Given the description of an element on the screen output the (x, y) to click on. 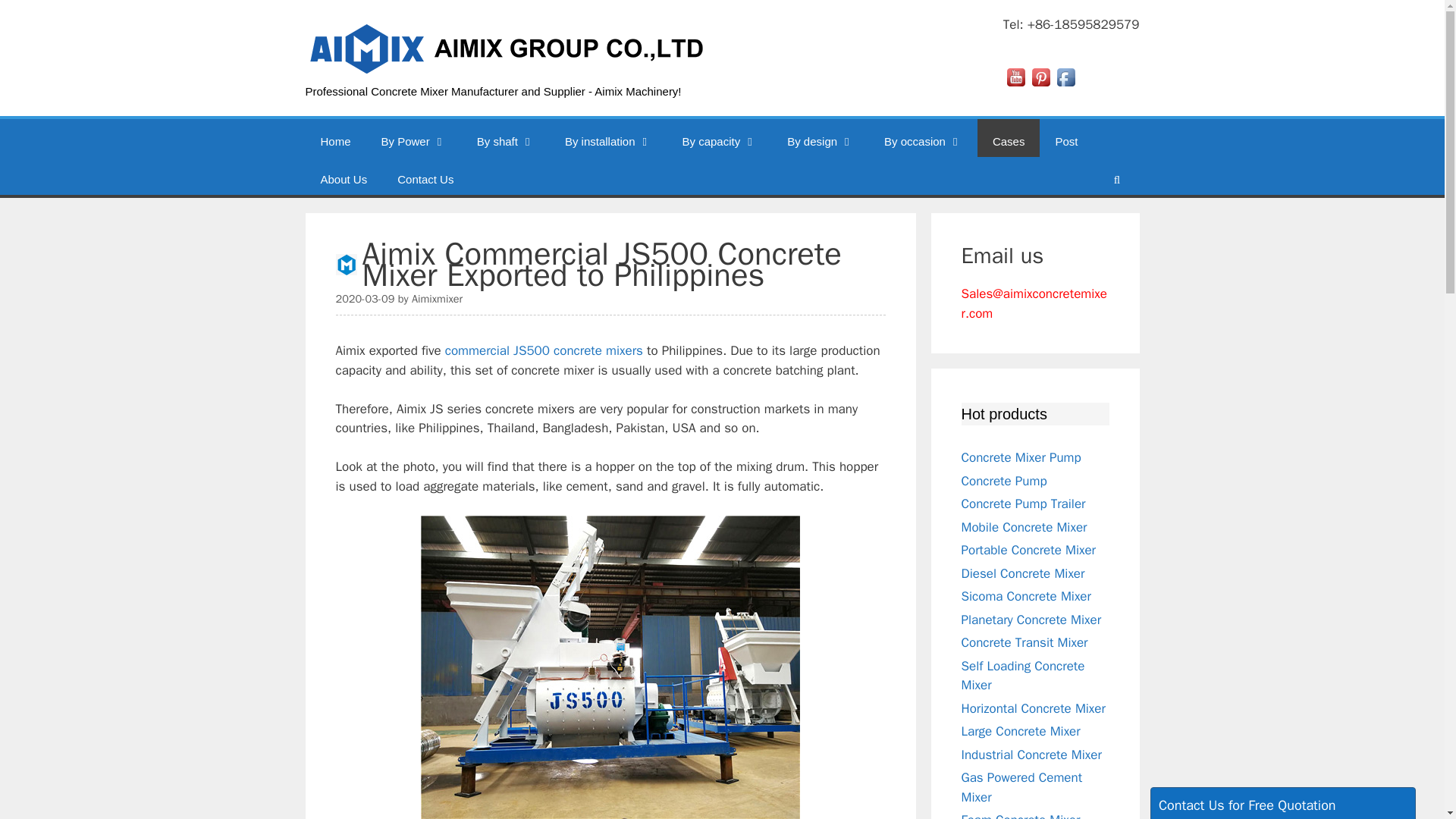
Visit Us On Youtube (1015, 84)
Visit Us On Facebook (1065, 84)
By design (820, 136)
By capacity (718, 136)
View all posts by Aimixmixer (437, 298)
By Power (413, 136)
By shaft (505, 136)
Home (334, 136)
Visit Us On Pinterest (1039, 84)
By installation (608, 136)
